Given the description of an element on the screen output the (x, y) to click on. 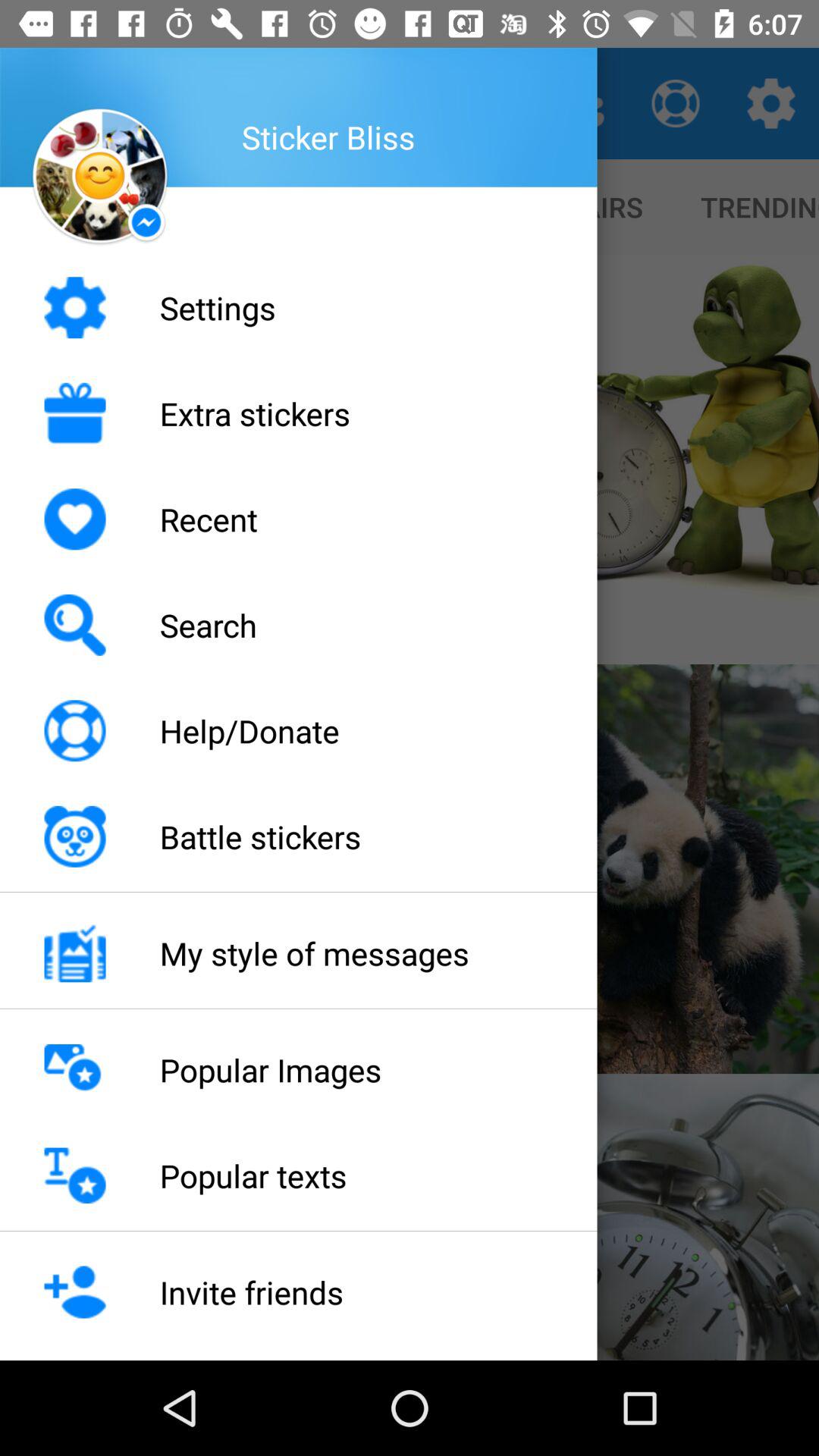
click on sixth icon below sticker bliss (74, 837)
take the turtle image right to settings (614, 458)
select the image which is to the left side of the sticker bliss (99, 177)
click on settings button (771, 103)
